Given the description of an element on the screen output the (x, y) to click on. 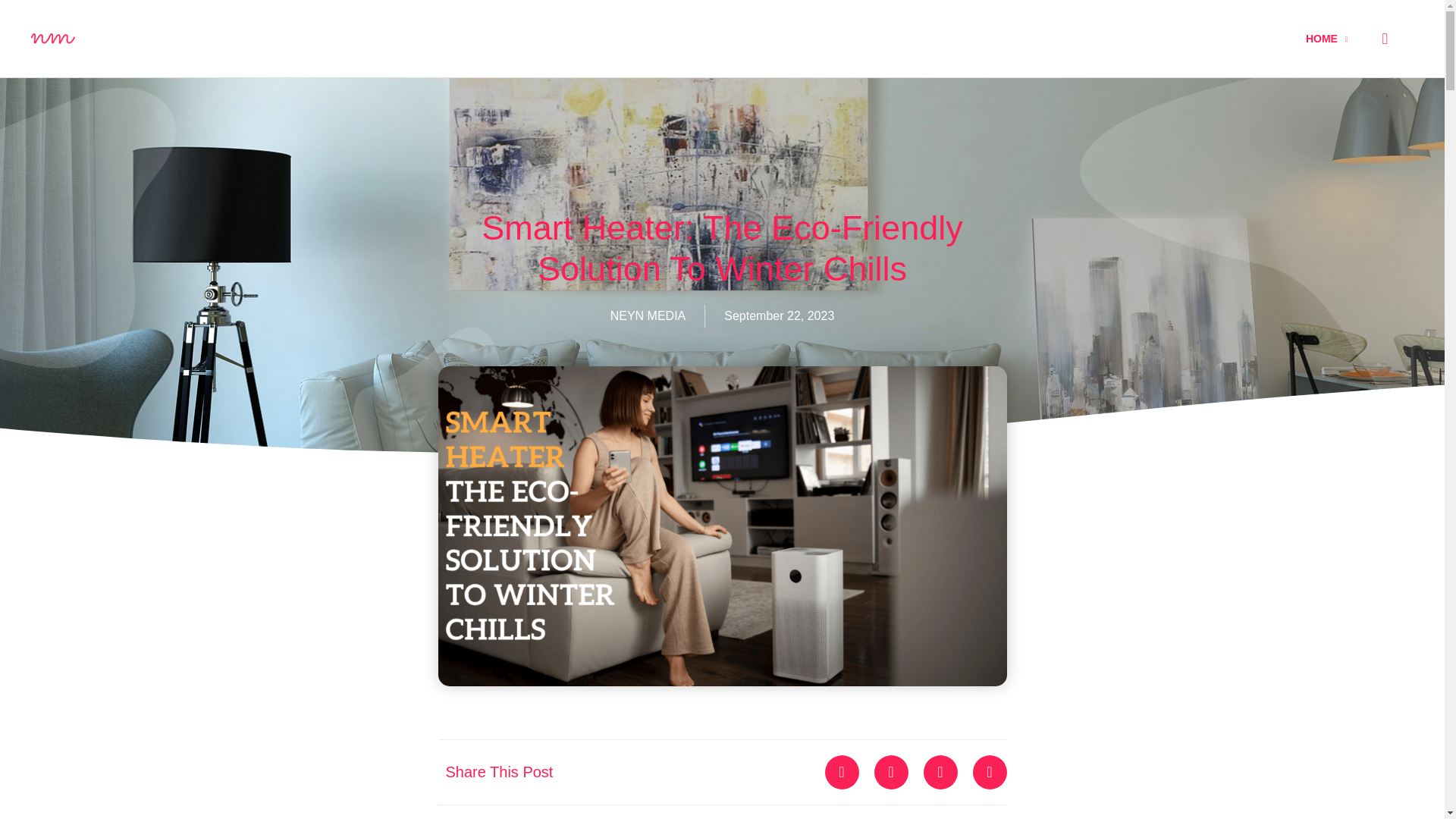
HOME (1332, 39)
September 22, 2023 (778, 315)
NEYN MEDIA (647, 315)
